Given the description of an element on the screen output the (x, y) to click on. 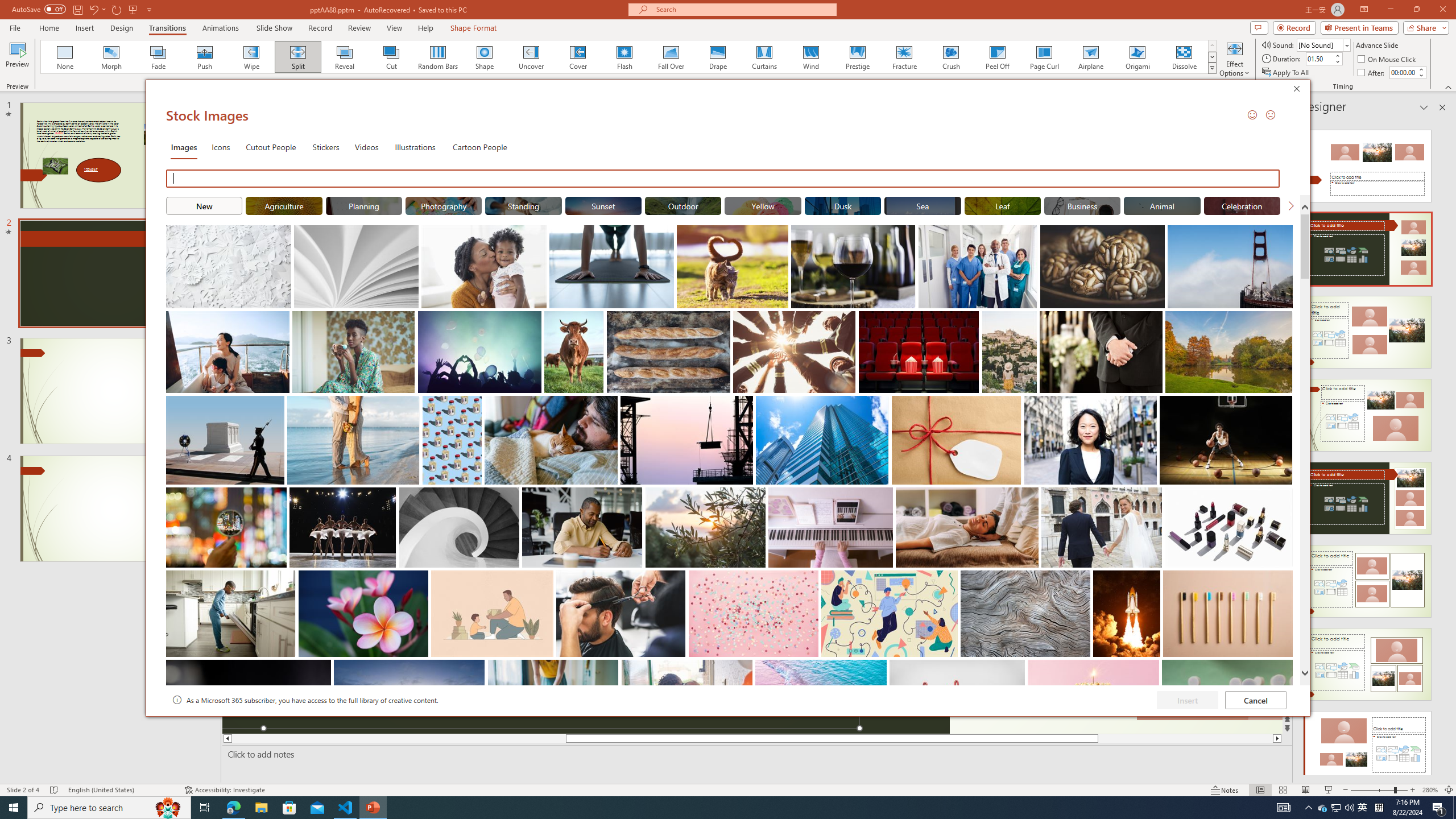
Q2790: 100% (1349, 807)
Start (13, 807)
Airplane (1090, 56)
Fall Over (1362, 807)
"Leaf" Stock Images. (670, 56)
Action Center, 1 new notification (1002, 205)
Microsoft search (1439, 807)
